Given the description of an element on the screen output the (x, y) to click on. 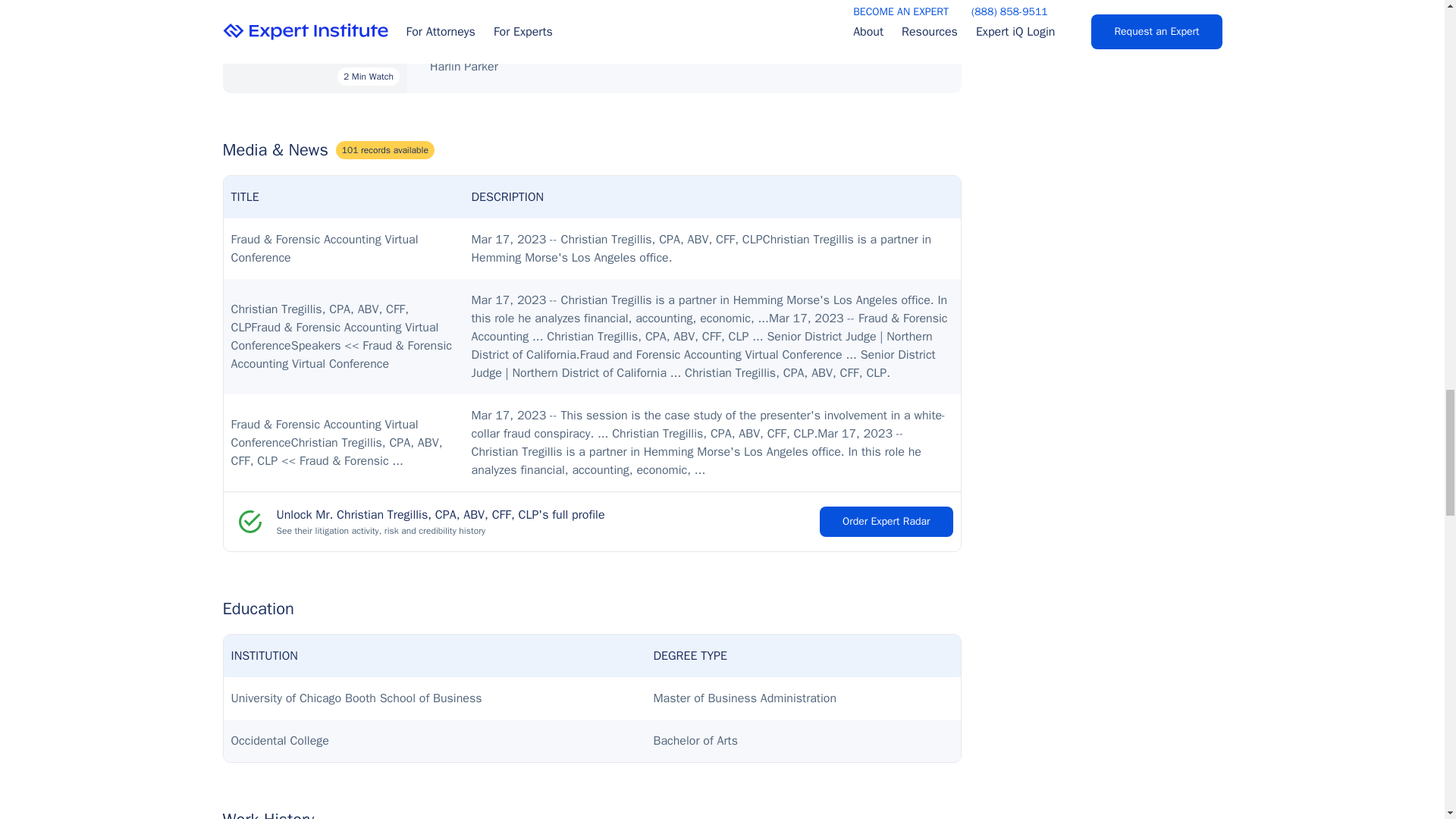
Order Expert Radar (885, 521)
